Given the description of an element on the screen output the (x, y) to click on. 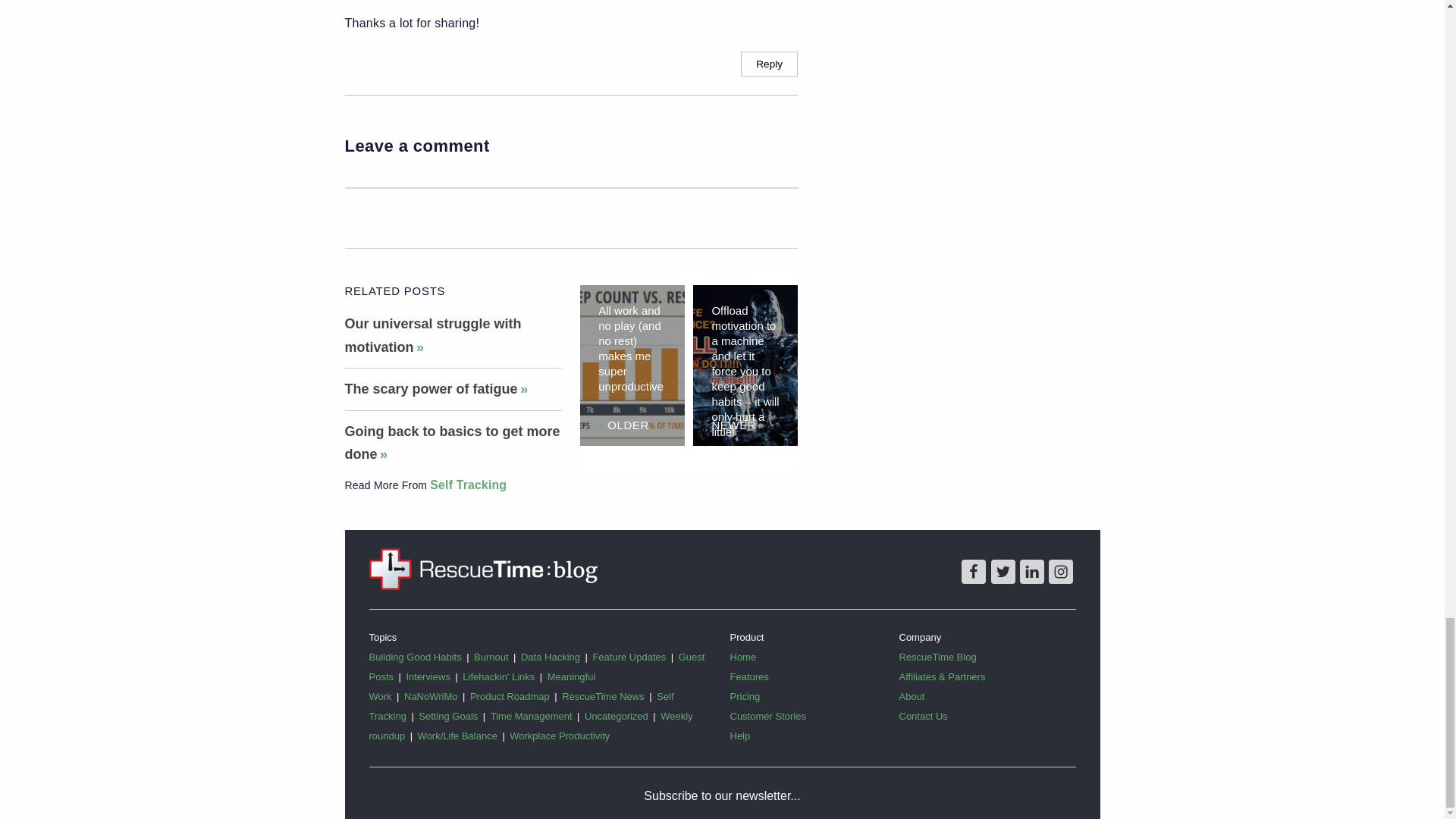
Meaningful Work (481, 685)
Data Hacking (556, 656)
Reply (769, 63)
Going back to basics to get more done (451, 443)
Building Good Habits (421, 656)
NaNoWriMo (437, 696)
RescueTime News (609, 696)
Self Tracking (467, 484)
Self Tracking (467, 484)
Burnout (497, 656)
The scary power of fatigue (435, 388)
Feature Updates (635, 656)
Our universal struggle with motivation (432, 335)
Guest Posts (536, 666)
Lifehackin' Links (505, 676)
